Given the description of an element on the screen output the (x, y) to click on. 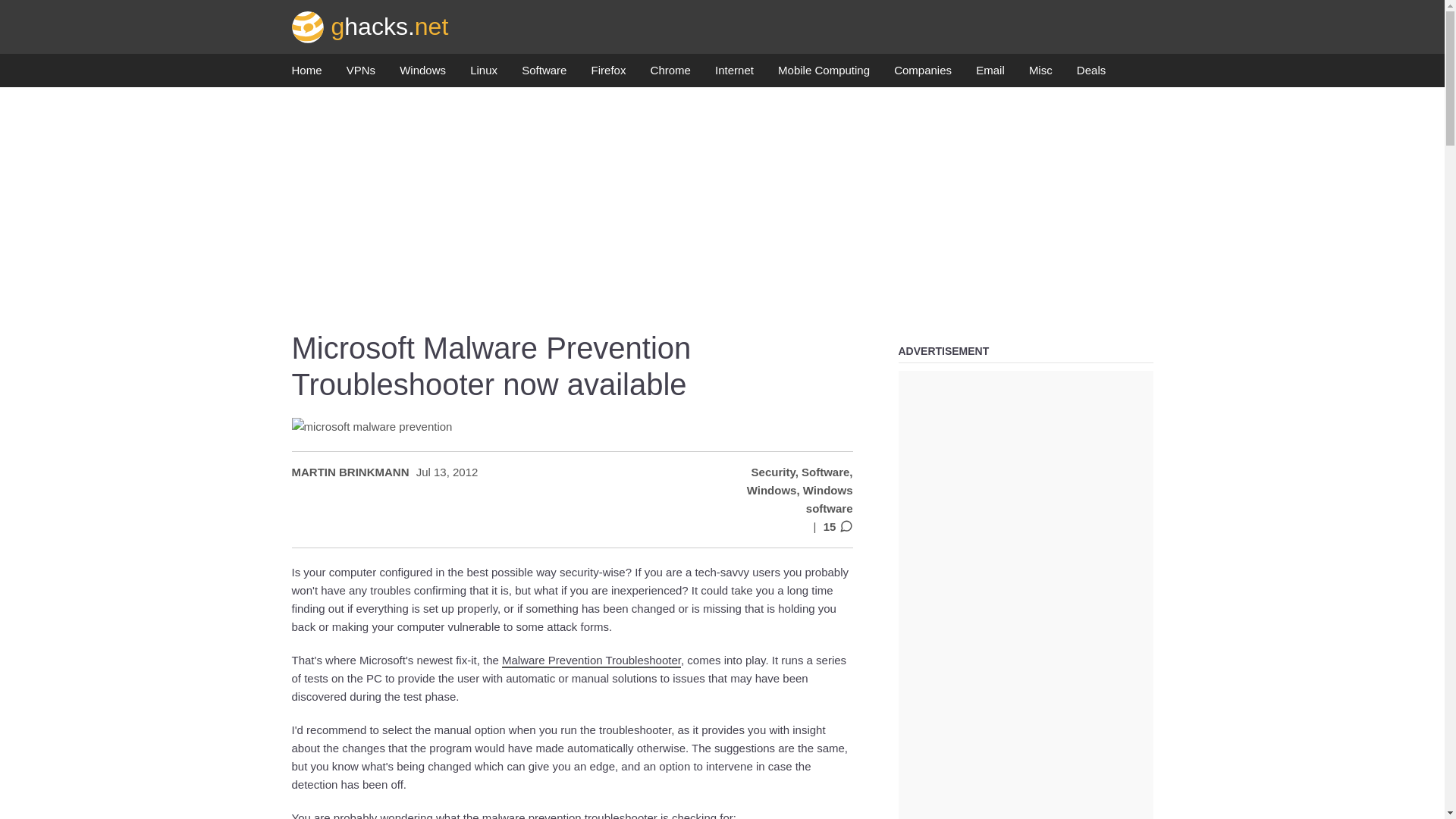
VPNs (360, 73)
Chrome (670, 73)
Mobile Computing (823, 73)
Misc (1040, 73)
Home (306, 73)
Linux (483, 73)
Windows (421, 73)
Software (543, 73)
Email (989, 73)
Firefox (608, 73)
